Given the description of an element on the screen output the (x, y) to click on. 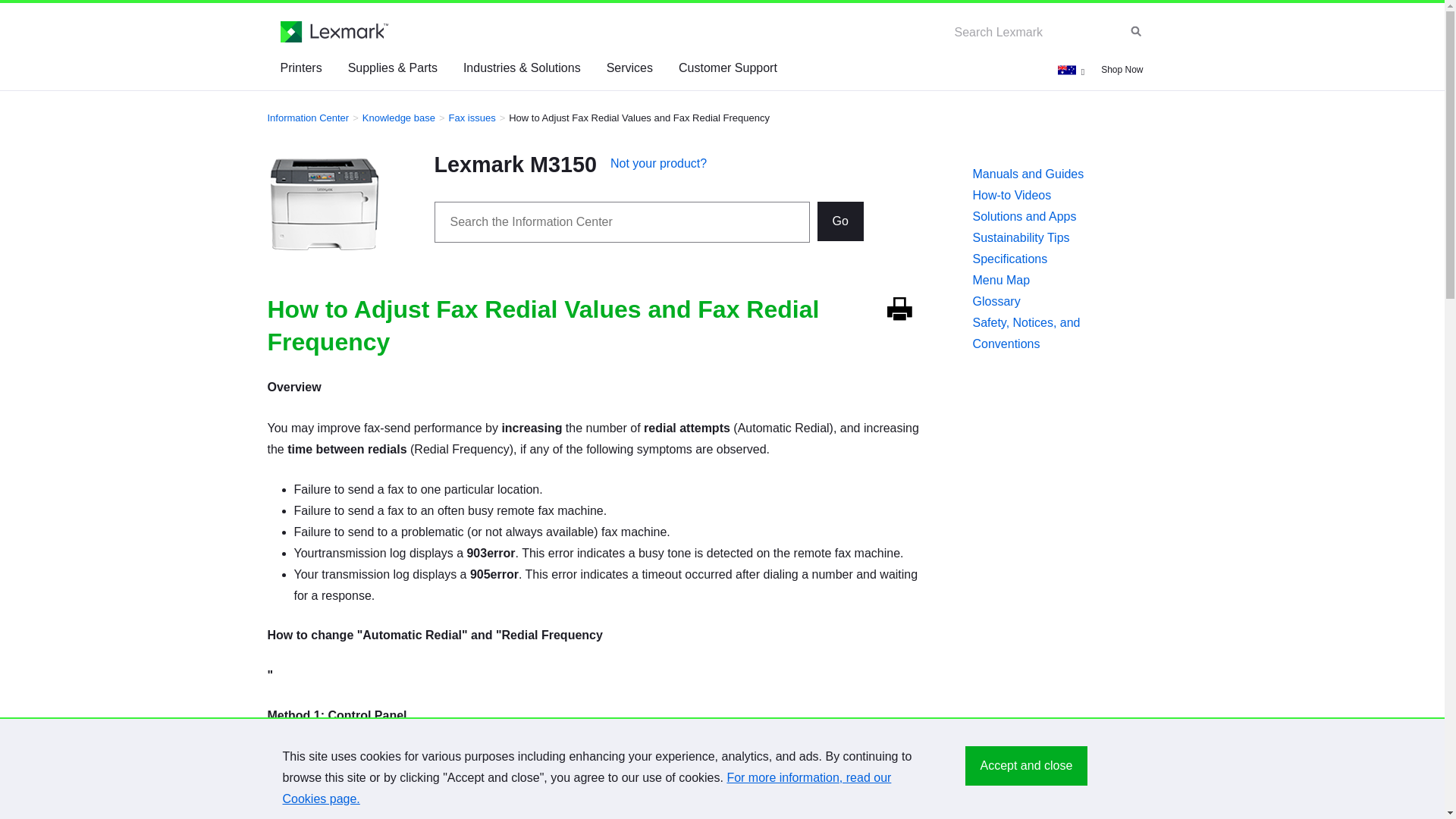
Opens a new tab for Manuals and Guides (1051, 174)
Opens a new tab for Solutions and Apps (1051, 216)
Opens a new tab for Specifications (1051, 259)
Not your product? (658, 163)
Opens a new tab for How-to Videos (1051, 195)
Opens a new tab for Menu Map (1051, 280)
Opens a new tab for Glossary (1051, 301)
Opens a new tab for Safety, Notices, and Conventions (1051, 333)
Opens a new tab for Sustainability Tips (1051, 237)
